Given the description of an element on the screen output the (x, y) to click on. 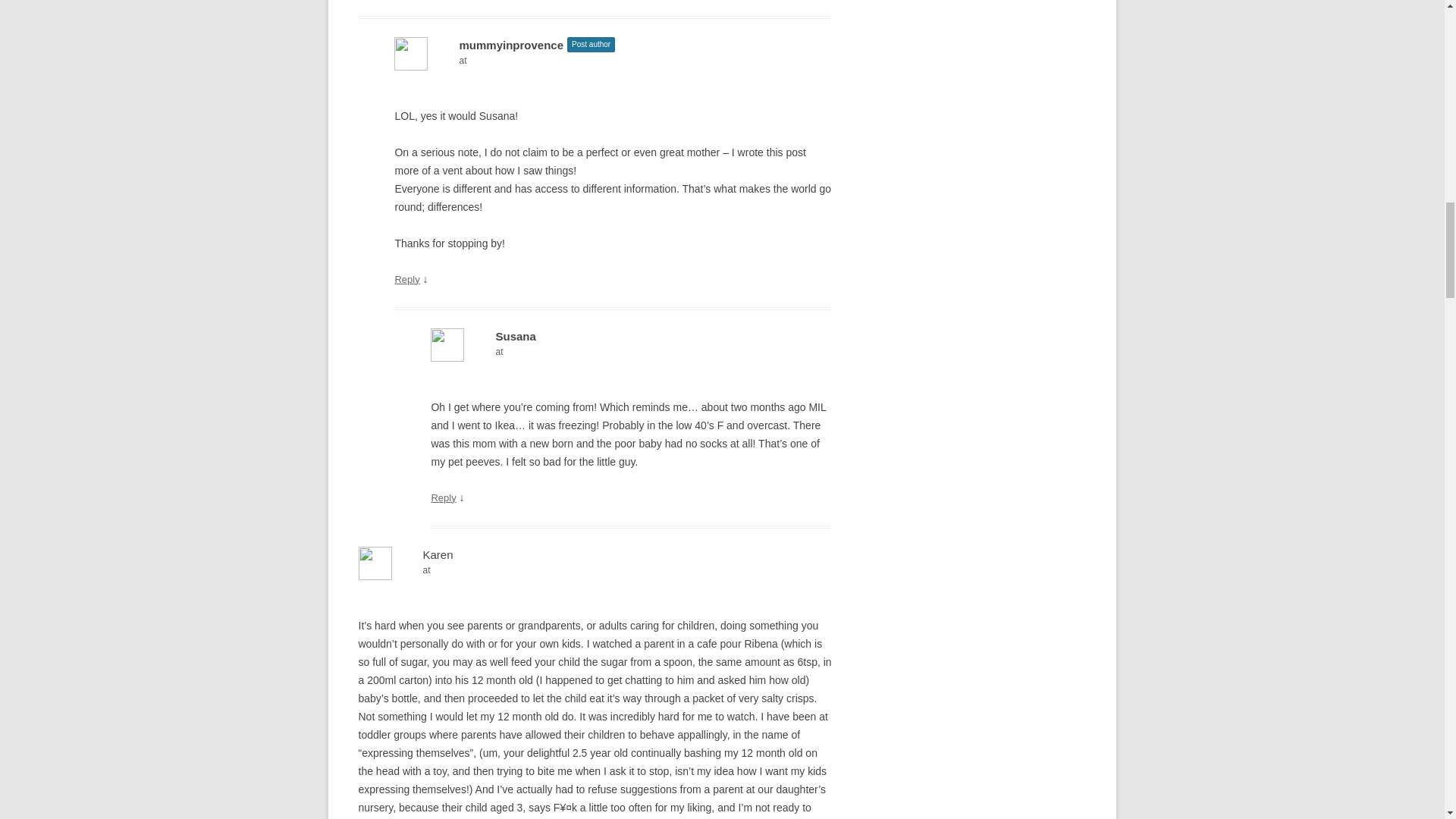
at (630, 351)
Reply (442, 497)
at (612, 60)
at (594, 570)
Reply (406, 279)
Karen (437, 554)
